Given the description of an element on the screen output the (x, y) to click on. 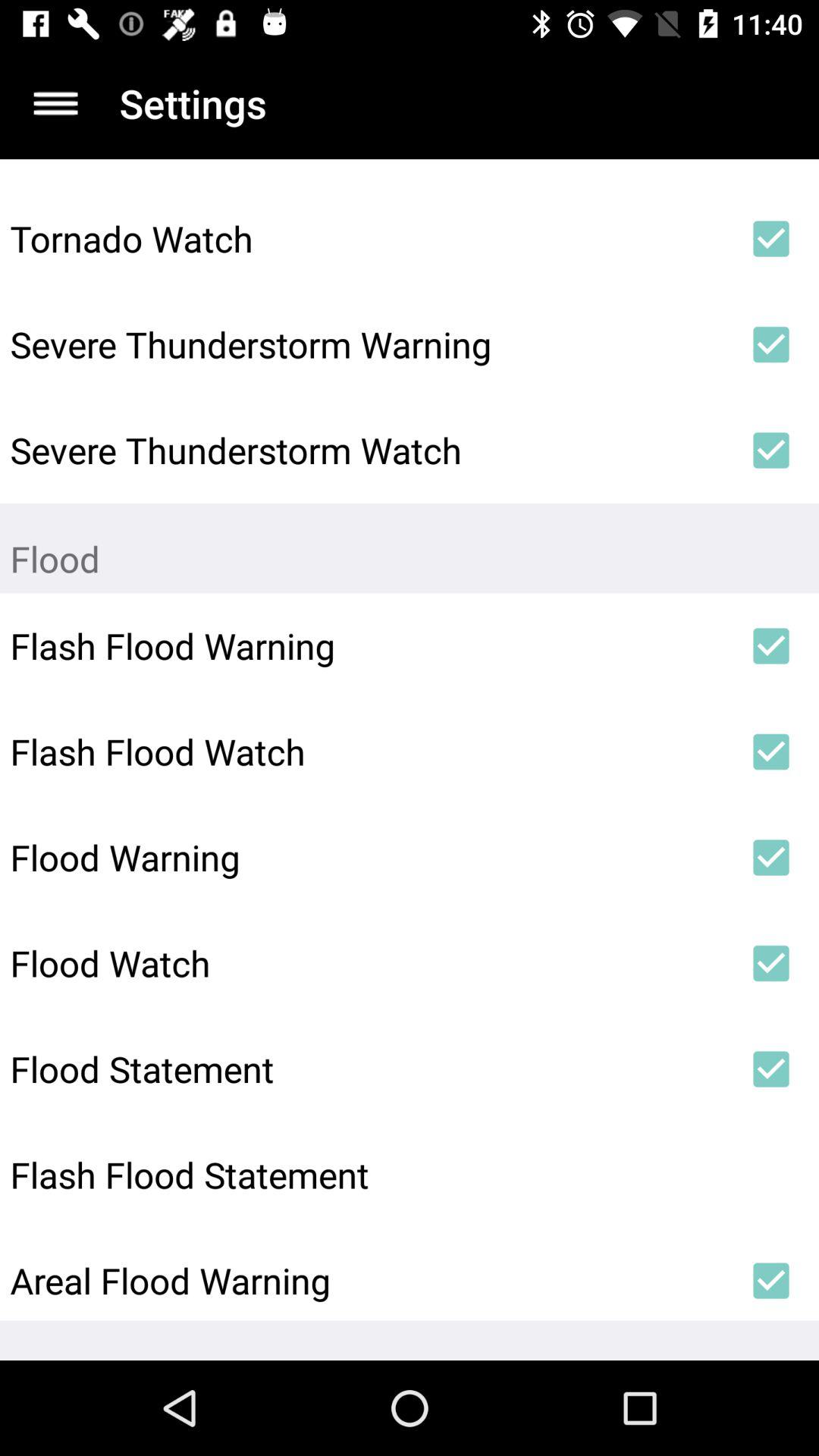
choose the icon to the right of areal flood warning icon (771, 1280)
